Given the description of an element on the screen output the (x, y) to click on. 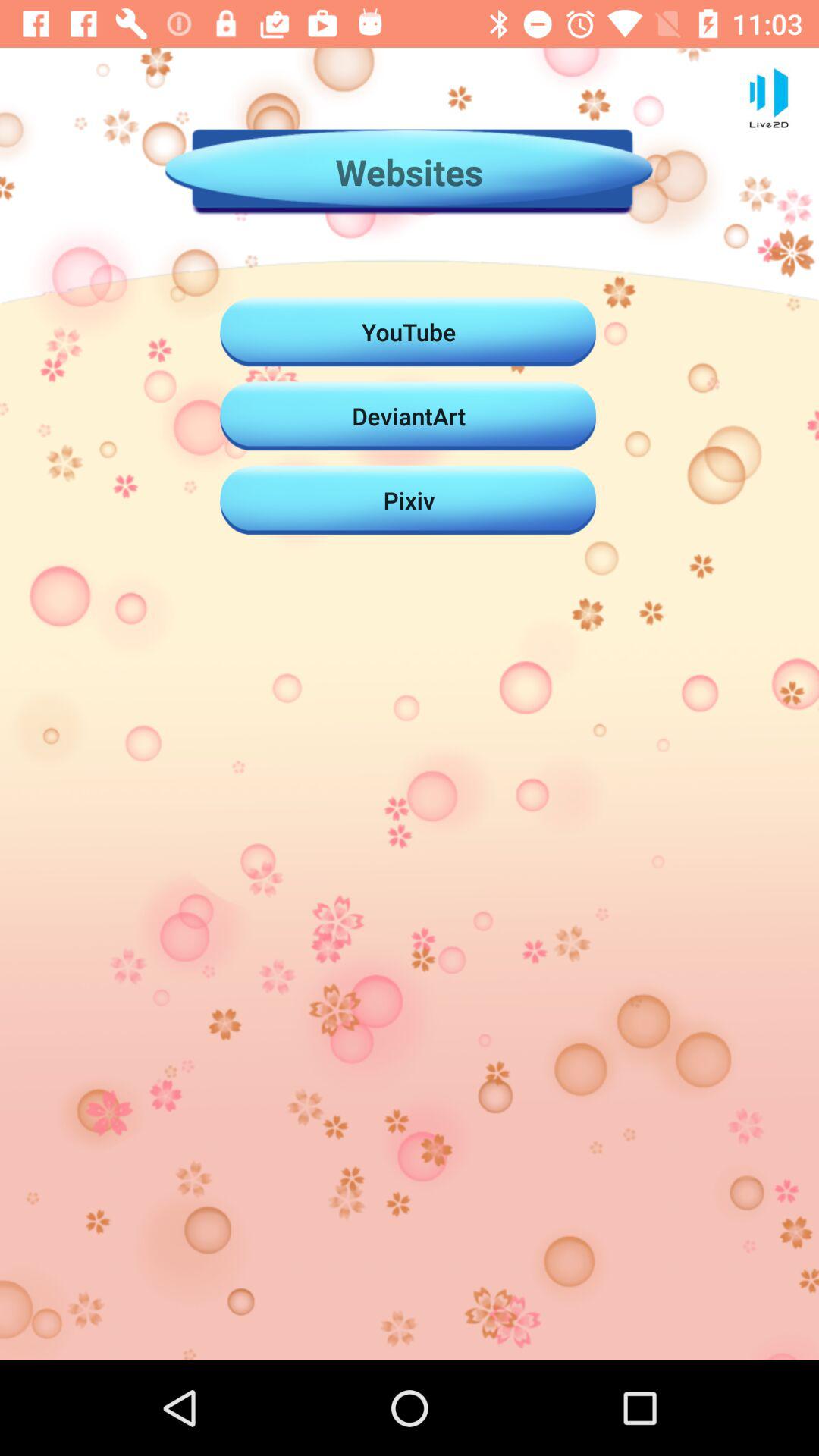
flip until the pixiv (409, 500)
